Given the description of an element on the screen output the (x, y) to click on. 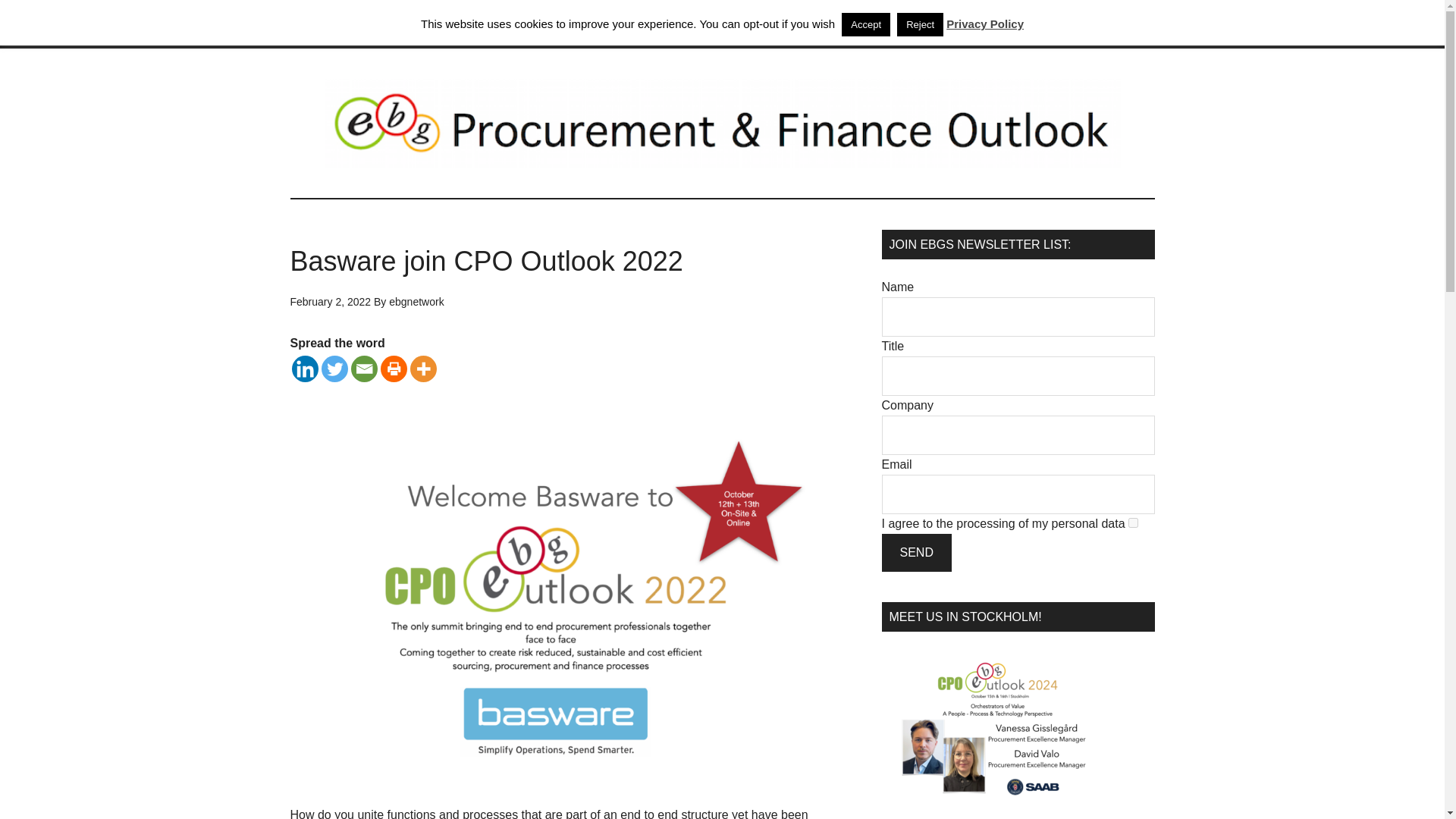
Linkedin (304, 368)
More (422, 368)
Twitter (334, 368)
Send (915, 552)
Email (363, 368)
Send (915, 552)
processing of my personal data (1040, 522)
on (1133, 522)
Print (393, 368)
ebgnetwork (416, 301)
